Given the description of an element on the screen output the (x, y) to click on. 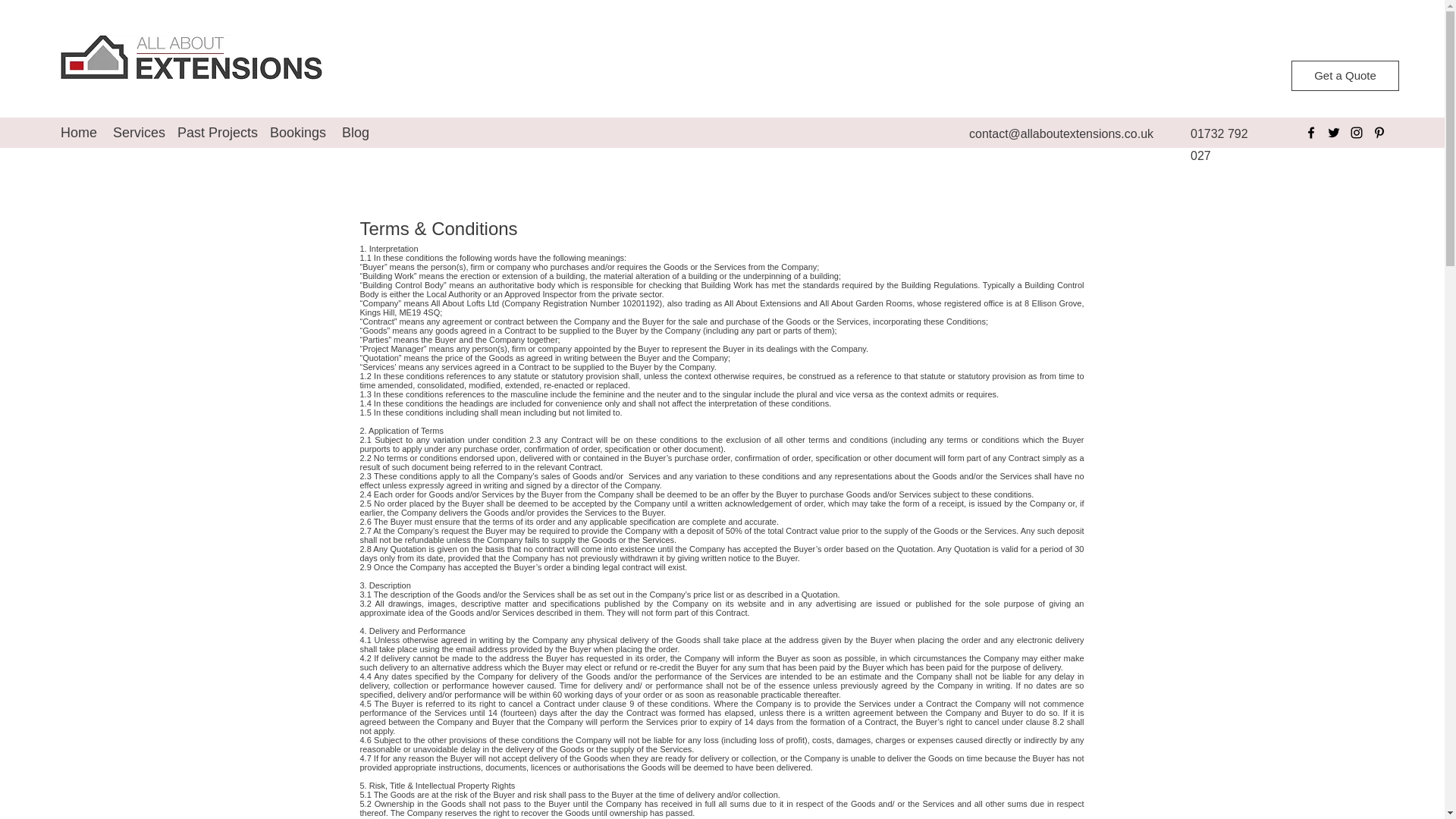
Home (78, 132)
Bookings (298, 132)
Blog (355, 132)
Get a Quote (1345, 75)
